Given the description of an element on the screen output the (x, y) to click on. 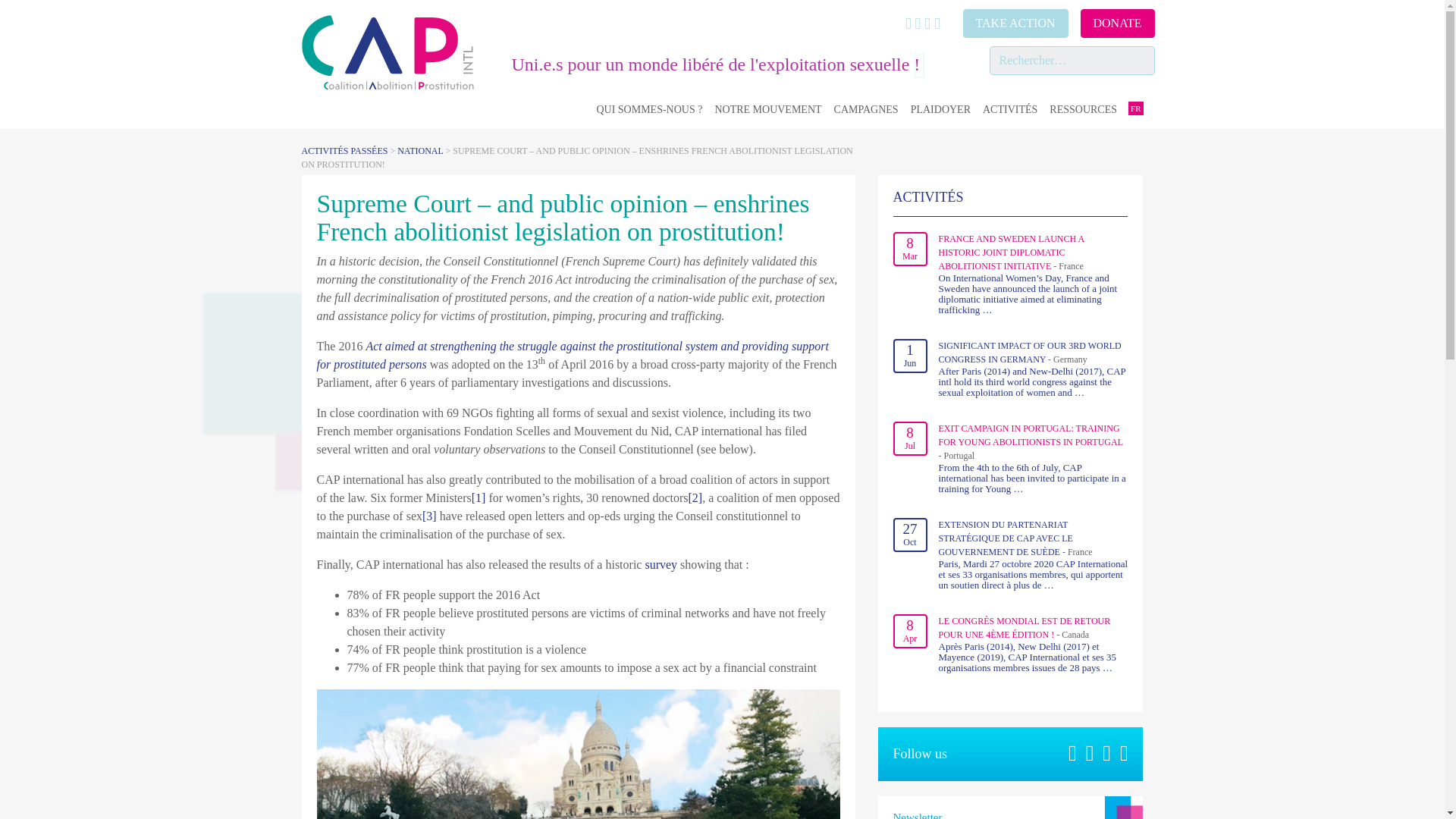
NOTRE MOUVEMENT (767, 109)
RESSOURCES (1082, 109)
CAMPAGNES (866, 109)
QUI SOMMES-NOUS ? (648, 109)
Plaidoyer (941, 109)
Rechercher (53, 14)
DONATE (1117, 23)
TAKE ACTION (1015, 23)
FR (1135, 108)
PLAIDOYER (941, 109)
